Given the description of an element on the screen output the (x, y) to click on. 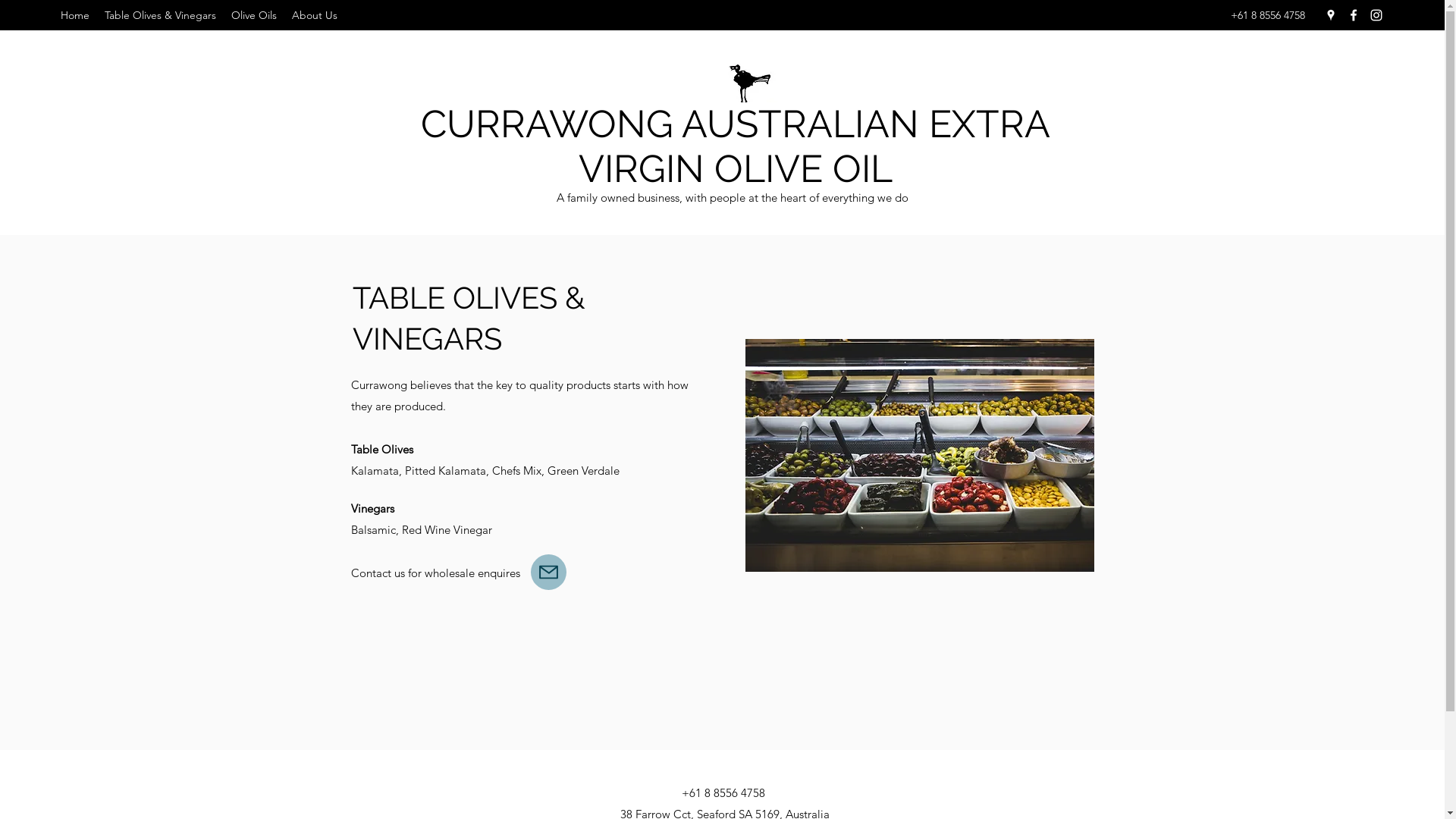
Olive Oils Element type: text (253, 14)
CURRAWONG AUSTRALIAN EXTRA Element type: text (735, 123)
Table Olives & Vinegars Element type: text (160, 14)
Contact us for wholesale enquires Element type: text (434, 572)
About Us Element type: text (314, 14)
Home Element type: text (75, 14)
